Given the description of an element on the screen output the (x, y) to click on. 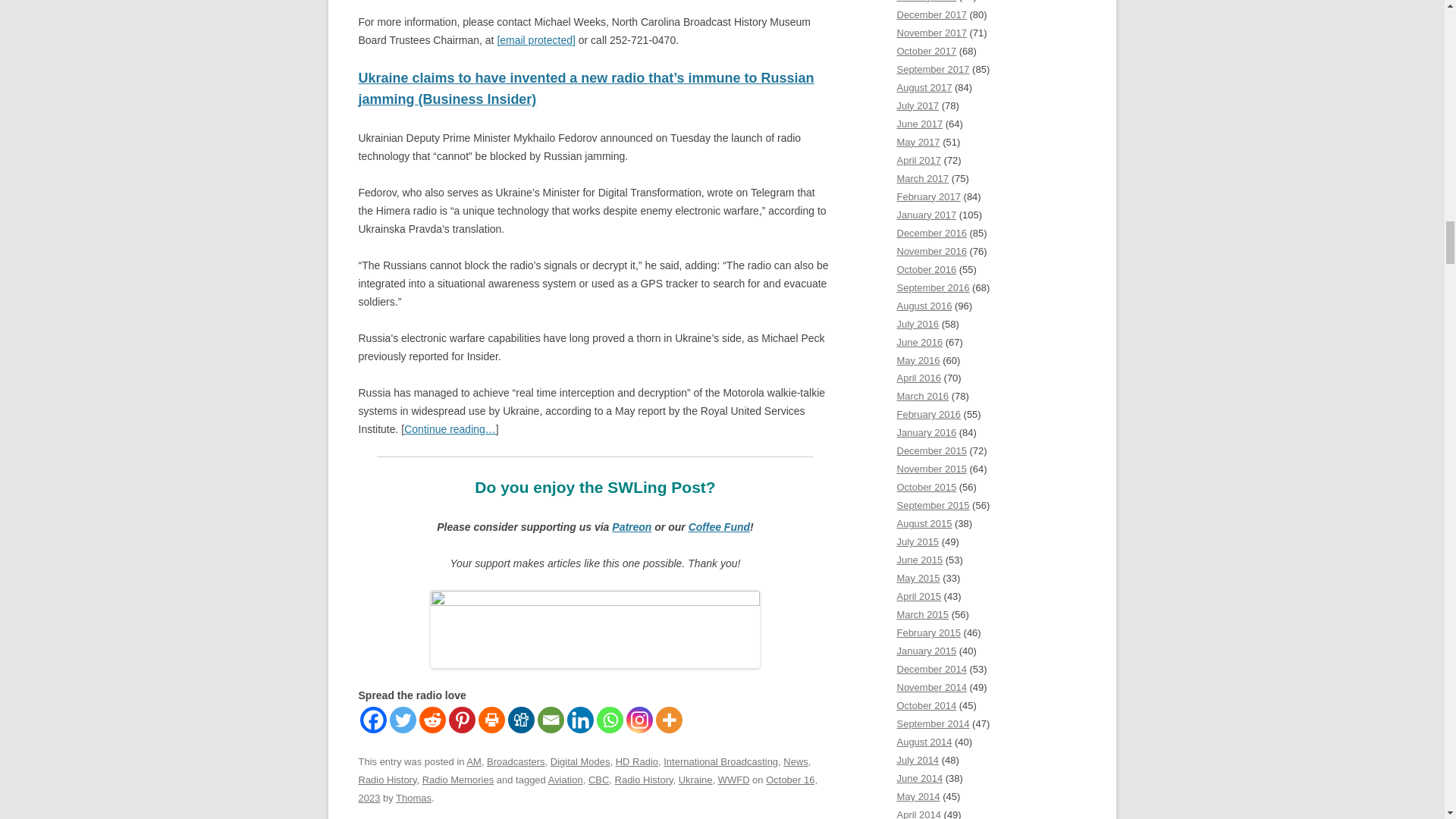
Facebook (372, 719)
Twitter (403, 719)
